Given the description of an element on the screen output the (x, y) to click on. 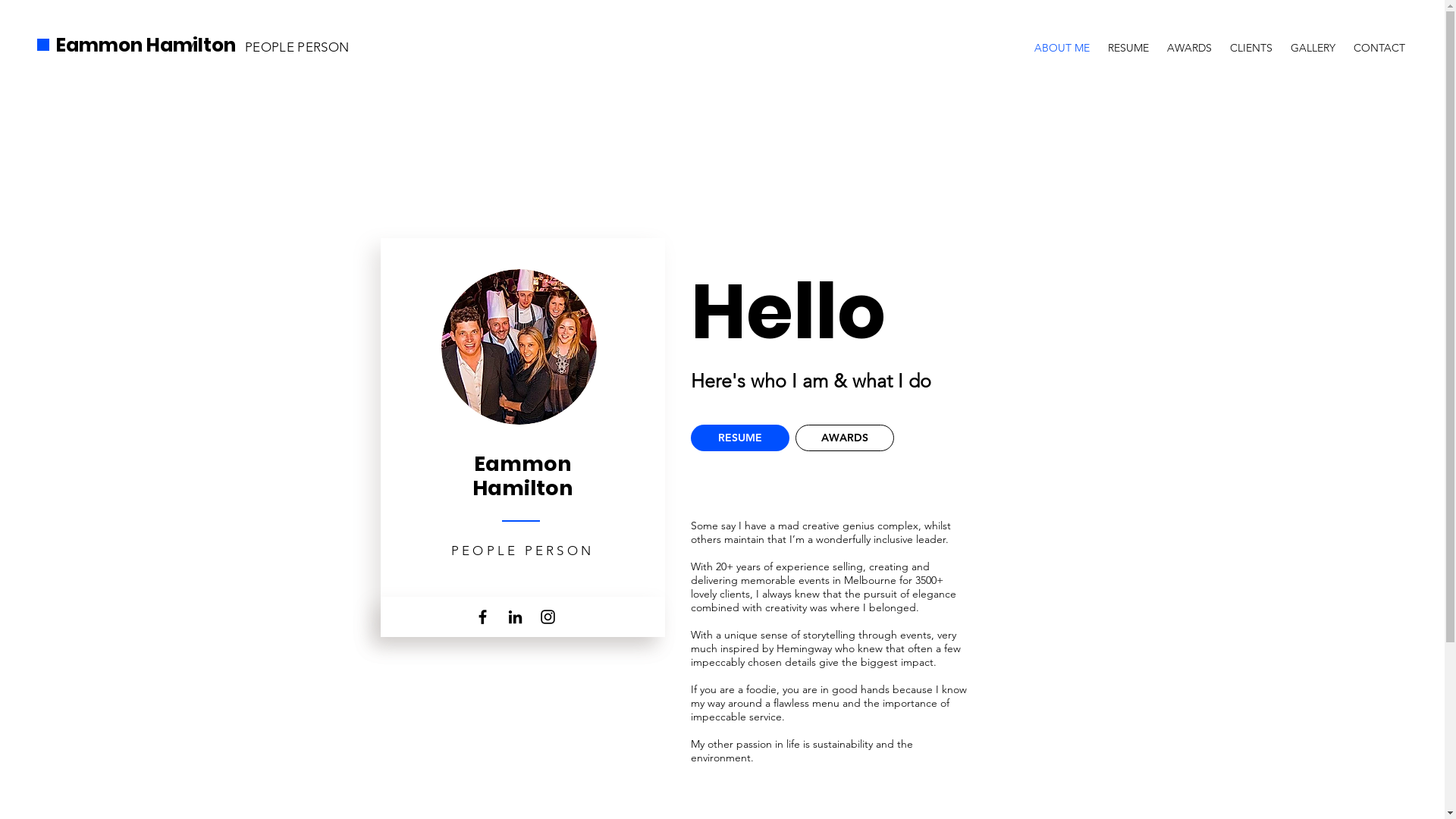
Eammon Hamilton Element type: text (145, 44)
CONTACT Element type: text (1379, 41)
CLIENTS Element type: text (1250, 41)
PEOPLE PERSON Element type: text (296, 46)
GALLERY Element type: text (1312, 41)
RESUME Element type: text (1127, 41)
AWARDS Element type: text (843, 437)
ABOUT ME Element type: text (1061, 41)
RESUME Element type: text (739, 437)
AWARDS Element type: text (1188, 41)
